Given the description of an element on the screen output the (x, y) to click on. 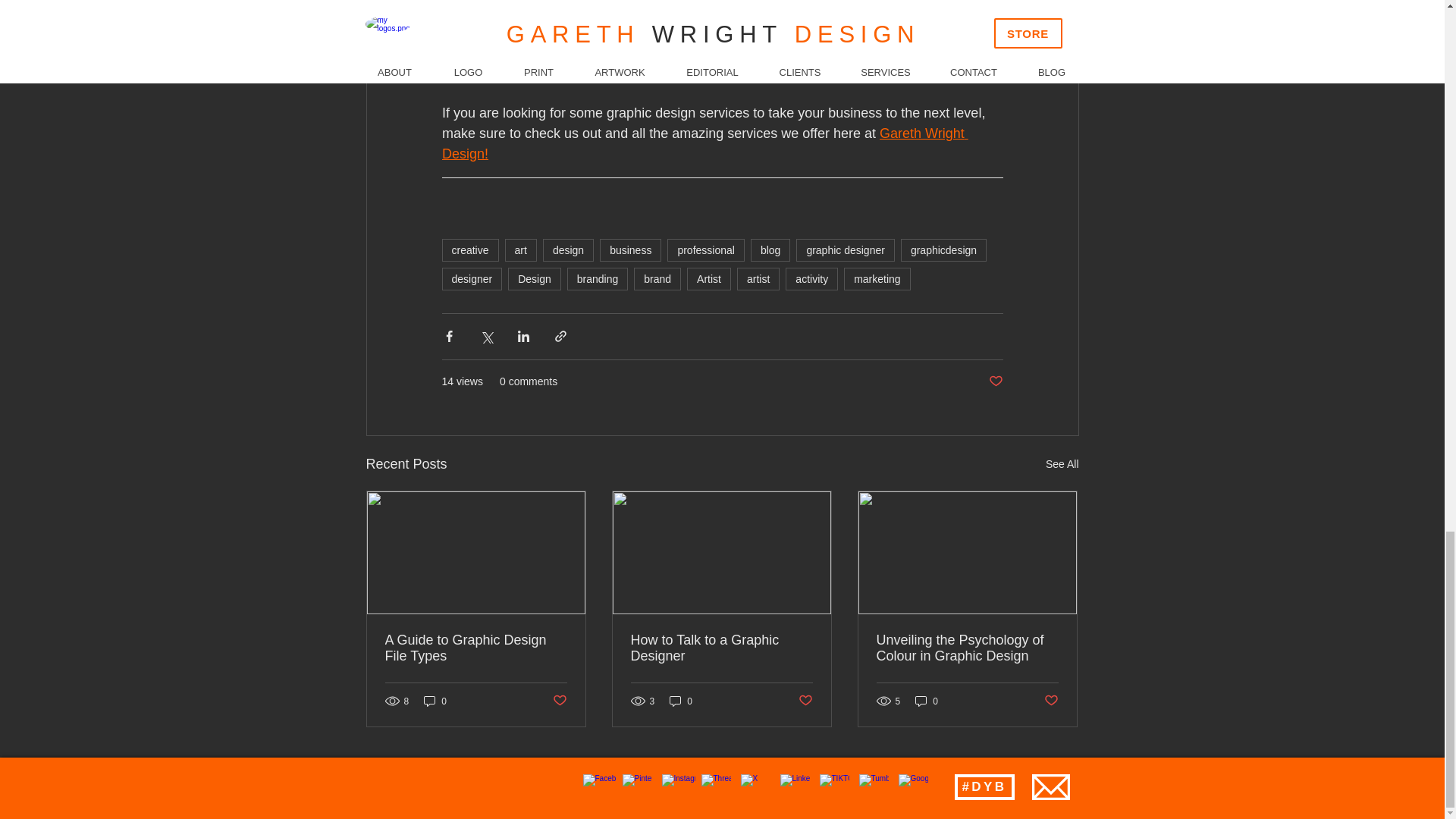
creative (469, 250)
Gareth Wright Design! (704, 143)
Design (534, 278)
design (568, 250)
branding (597, 278)
business (630, 250)
Post not marked as liked (995, 381)
artist (757, 278)
brand (657, 278)
designer (471, 278)
